Given the description of an element on the screen output the (x, y) to click on. 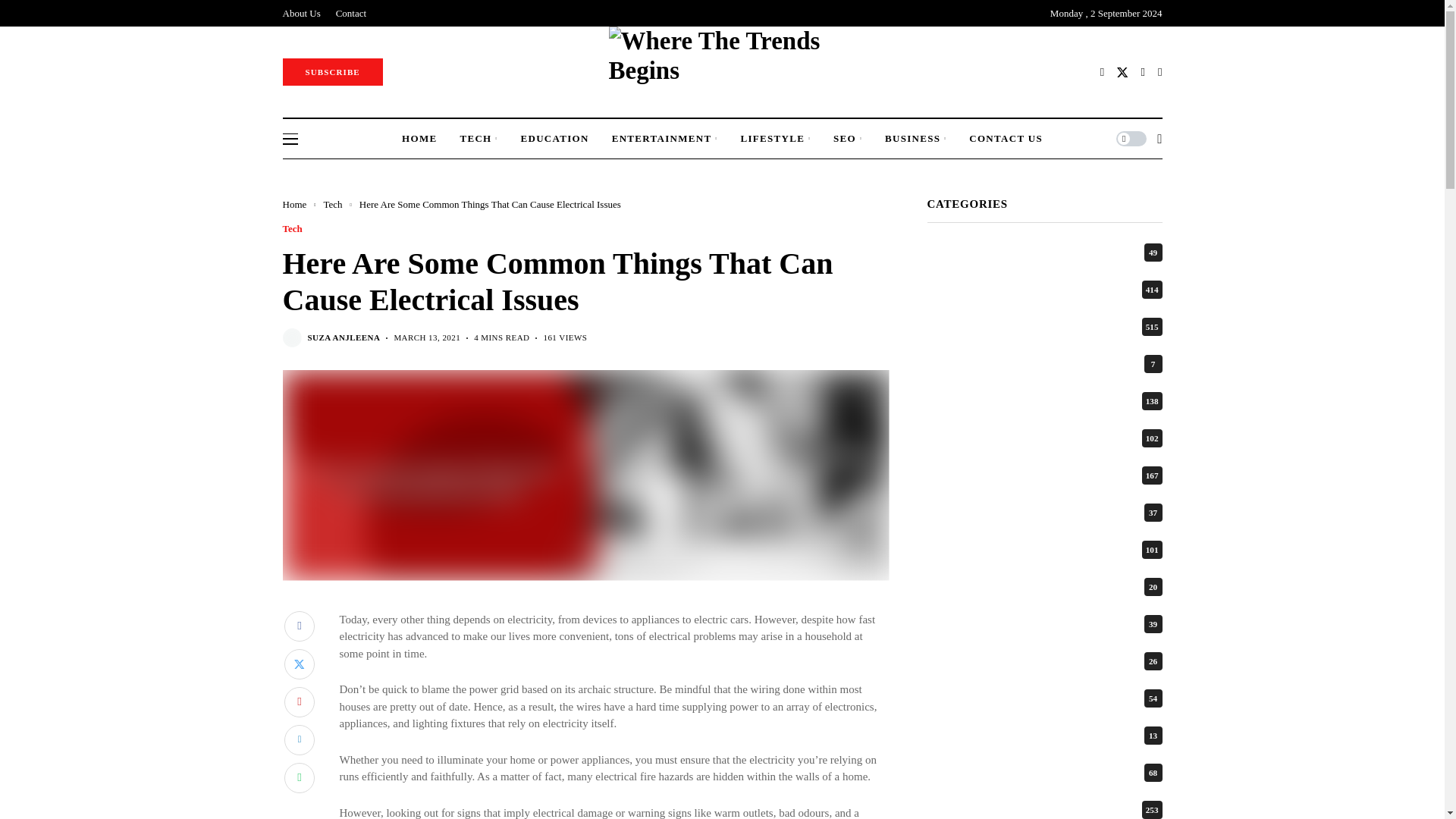
TECH (478, 138)
LIFESTYLE (774, 138)
SUBSCRIBE (331, 71)
Posts by Suza Anjleena (343, 337)
EDUCATION (553, 138)
BUSINESS (915, 138)
ENTERTAINMENT (664, 138)
About Us (301, 13)
CONTACT US (1005, 138)
